Given the description of an element on the screen output the (x, y) to click on. 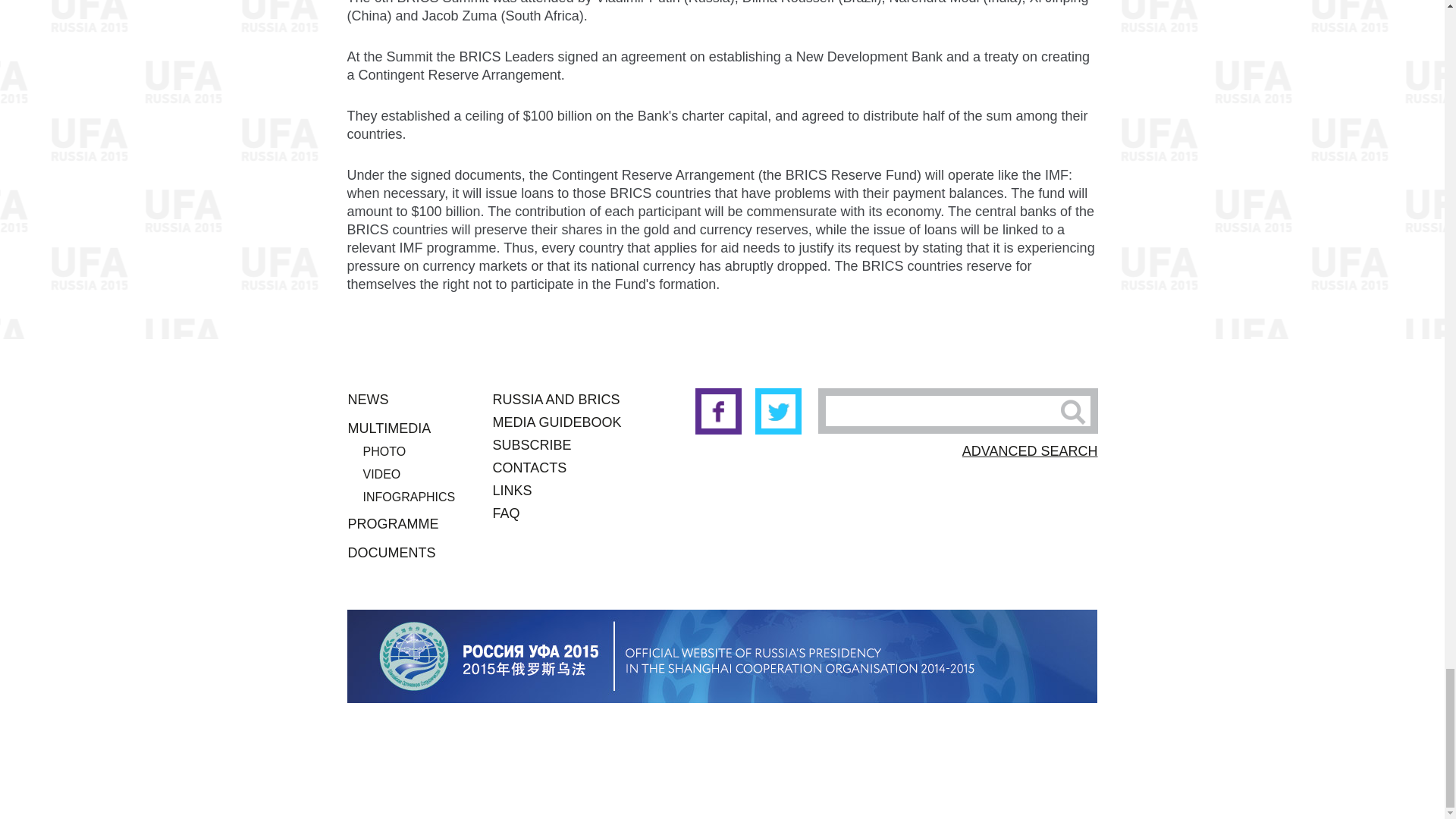
NEWS (367, 399)
VIDEO (381, 473)
PHOTO (384, 451)
DOCUMENTS (391, 552)
MULTIMEDIA (388, 427)
PROGRAMME (392, 523)
INFOGRAPHICS (408, 496)
